Given the description of an element on the screen output the (x, y) to click on. 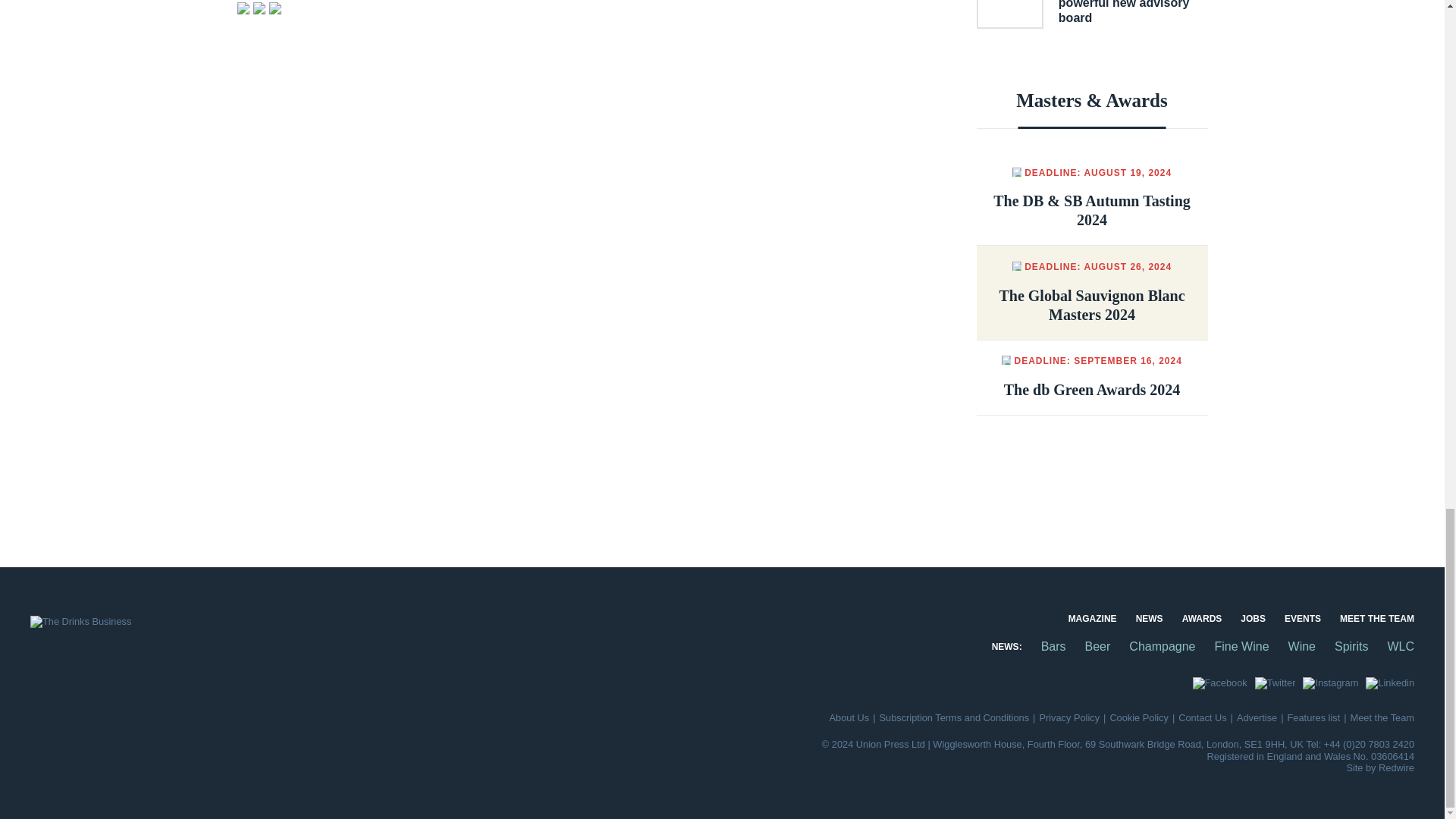
The Drinks Business (80, 621)
